Given the description of an element on the screen output the (x, y) to click on. 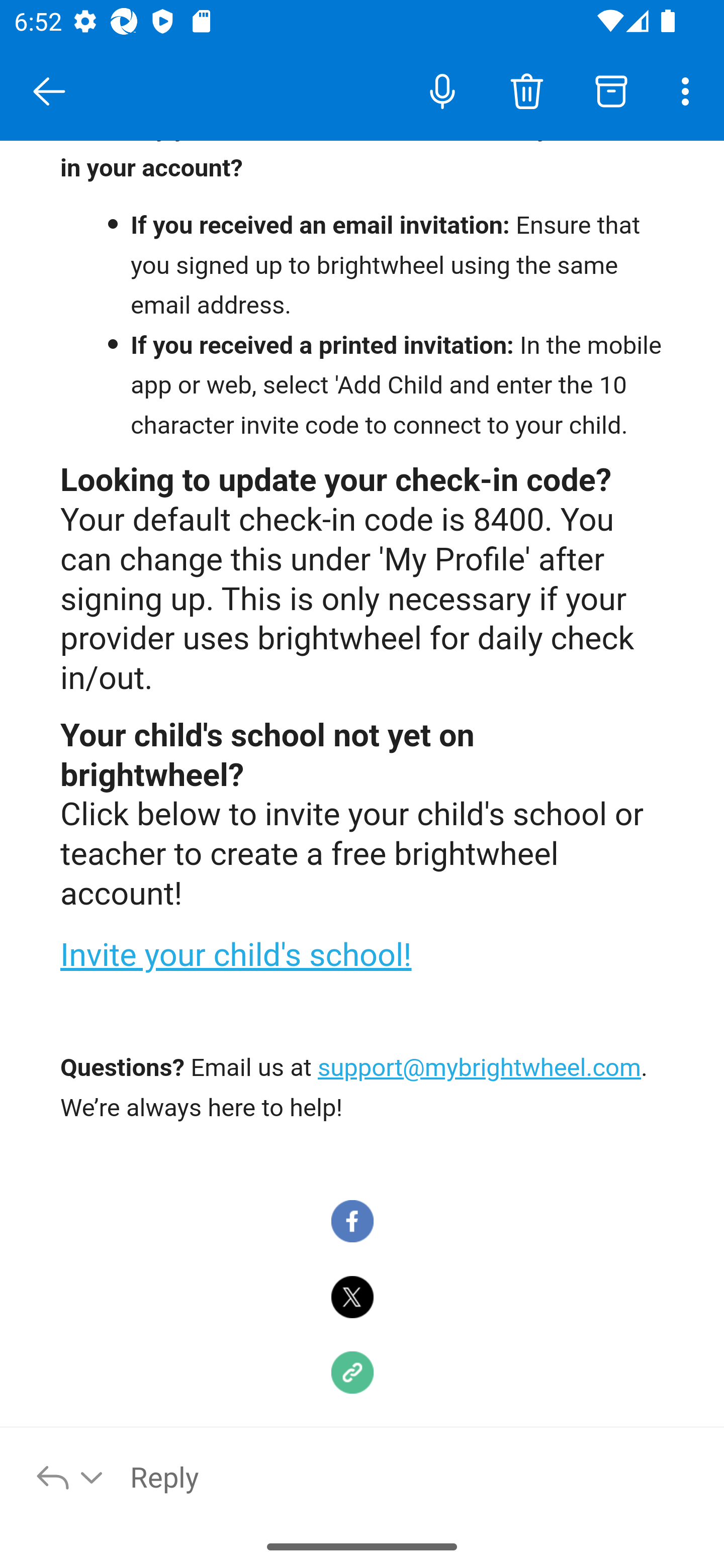
Close (49, 91)
Delete (526, 90)
Archive (611, 90)
More options (688, 90)
Invite your child's school! (235, 956)
support@mybrightwheel.com (479, 1069)
image (353, 1221)
image (353, 1297)
image (353, 1374)
Reply options (70, 1475)
Reply (416, 1475)
